Given the description of an element on the screen output the (x, y) to click on. 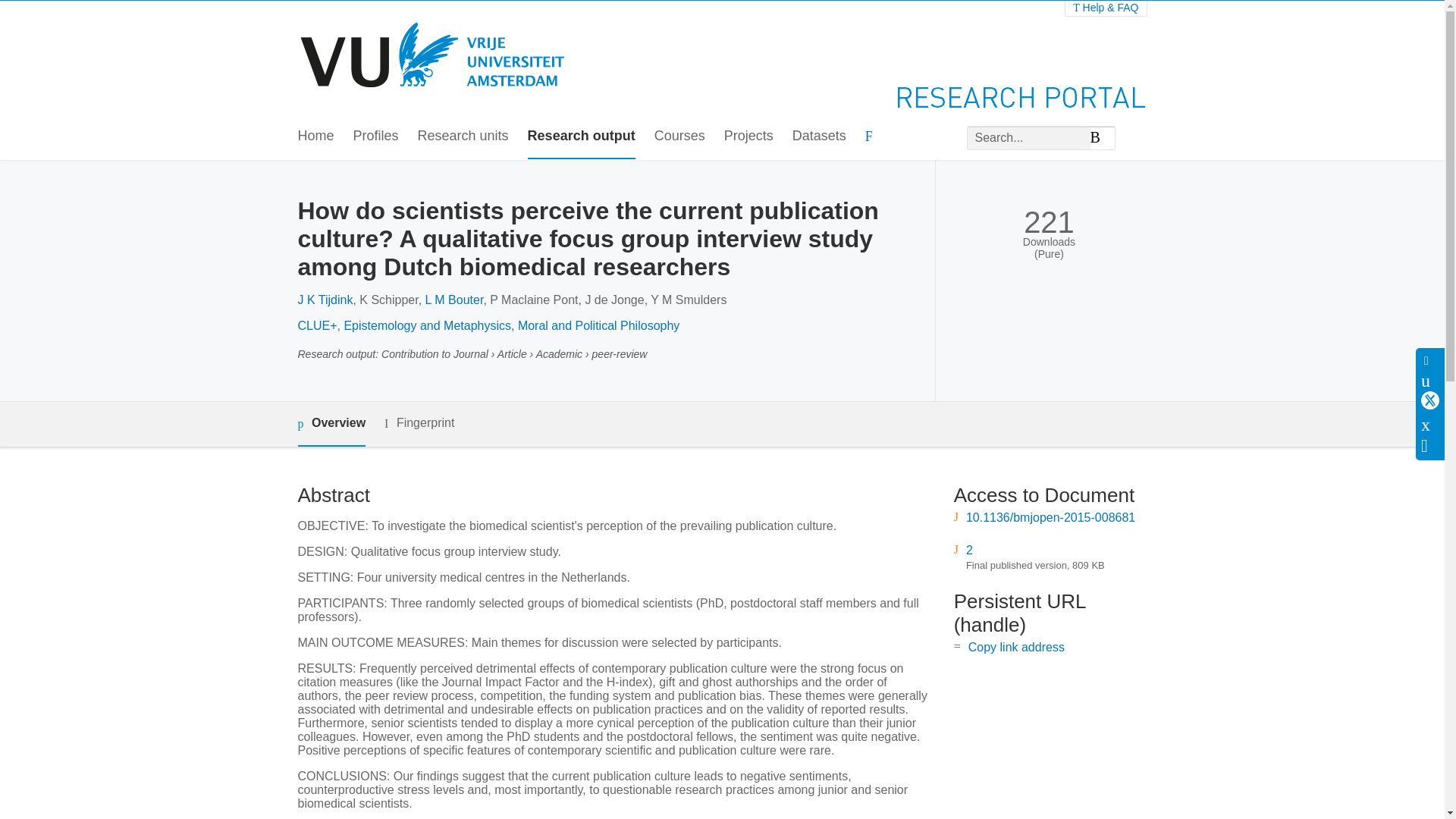
Epistemology and Metaphysics (427, 325)
Vrije Universiteit Amsterdam Home (433, 57)
L M Bouter (454, 299)
Research units (462, 136)
Copy link address (1016, 646)
Profiles (375, 136)
Research output (580, 136)
Fingerprint (419, 423)
Overview (331, 424)
Courses (678, 136)
